Given the description of an element on the screen output the (x, y) to click on. 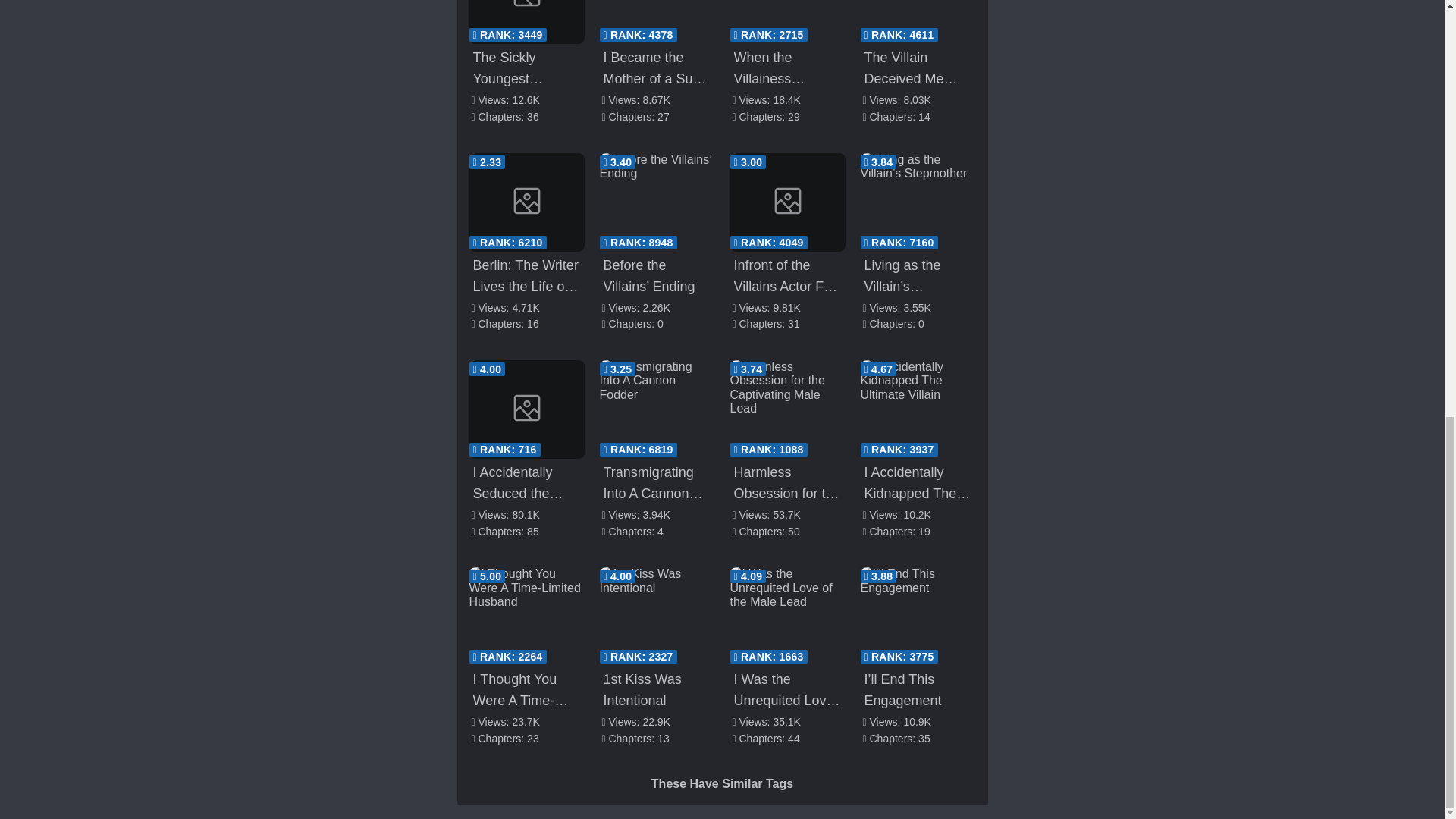
Infront of the Villains Actor Fall Ending (786, 202)
The Sickly Youngest Member of the Villainous Family (525, 22)
Berlin: The Writer Lives the Life of a Time-limited Villain (525, 202)
